Given the description of an element on the screen output the (x, y) to click on. 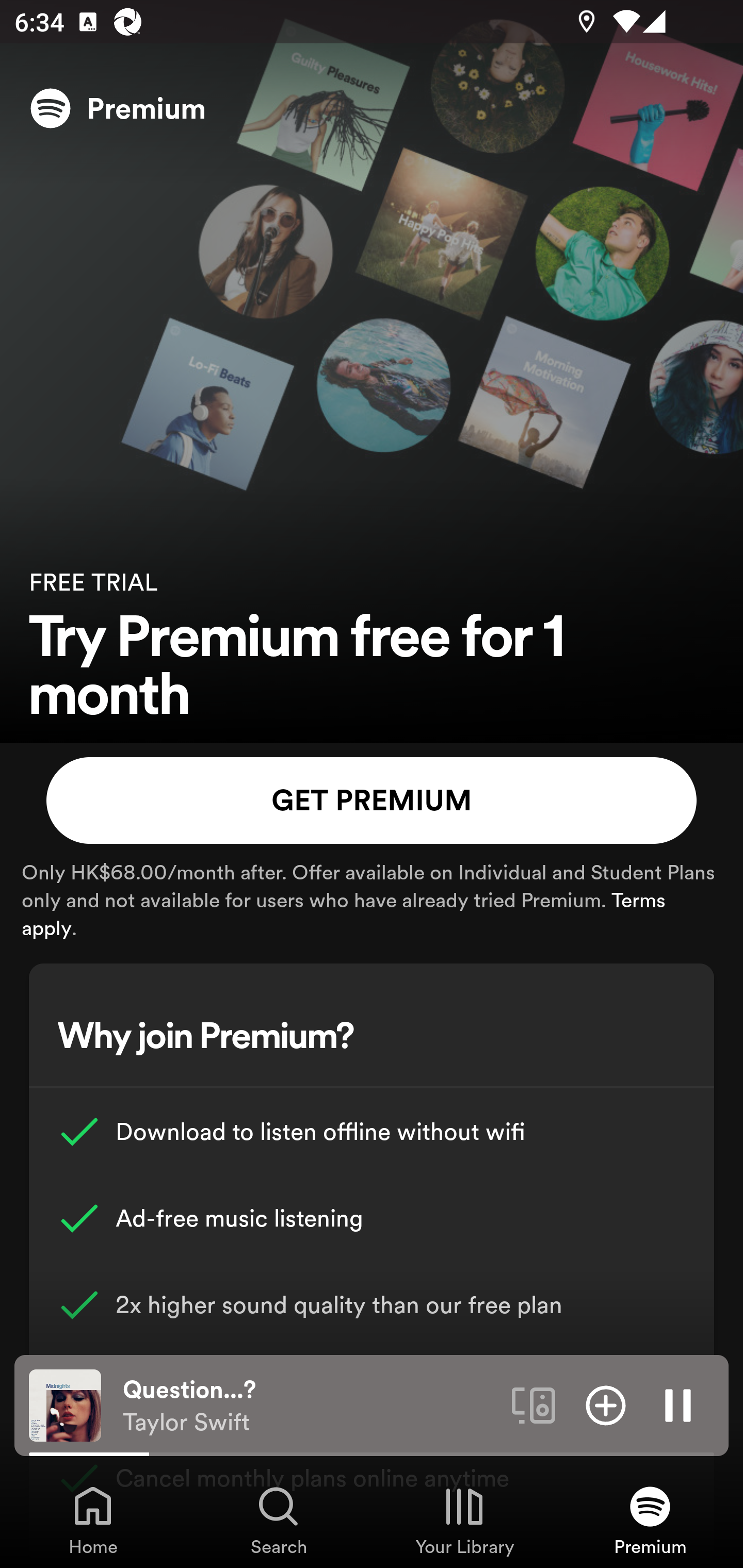
GET PREMIUM (371, 800)
Question...? Taylor Swift (309, 1405)
The cover art of the currently playing track (64, 1404)
Connect to a device. Opens the devices menu (533, 1404)
Add item (605, 1404)
Pause (677, 1404)
Home, Tab 1 of 4 Home Home (92, 1519)
Search, Tab 2 of 4 Search Search (278, 1519)
Your Library, Tab 3 of 4 Your Library Your Library (464, 1519)
Premium, Tab 4 of 4 Premium Premium (650, 1519)
